Given the description of an element on the screen output the (x, y) to click on. 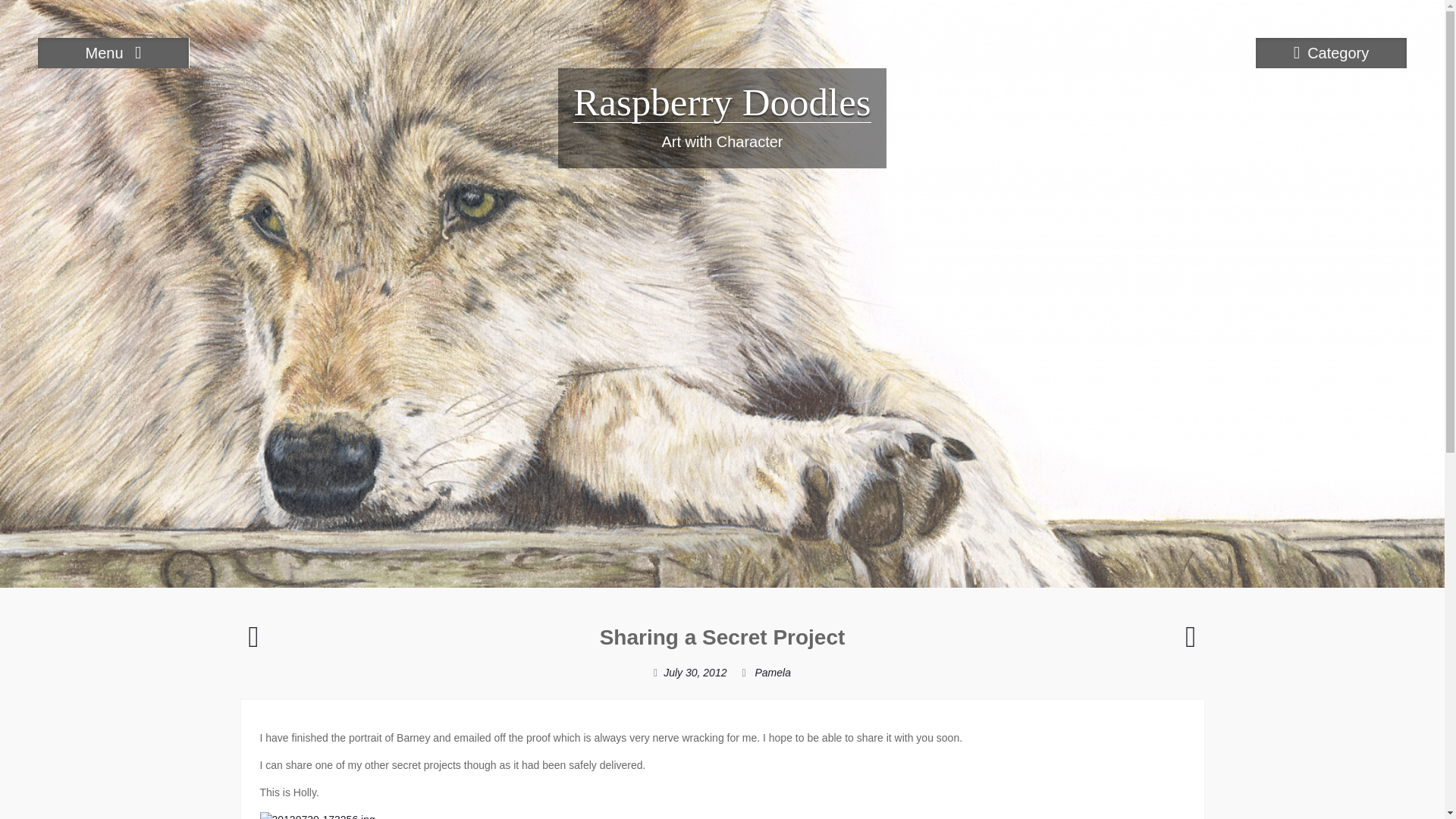
Raspberry Doodles (721, 102)
July 30, 2012 (694, 672)
Pamela (772, 672)
Category (1330, 52)
Menu (113, 52)
